Given the description of an element on the screen output the (x, y) to click on. 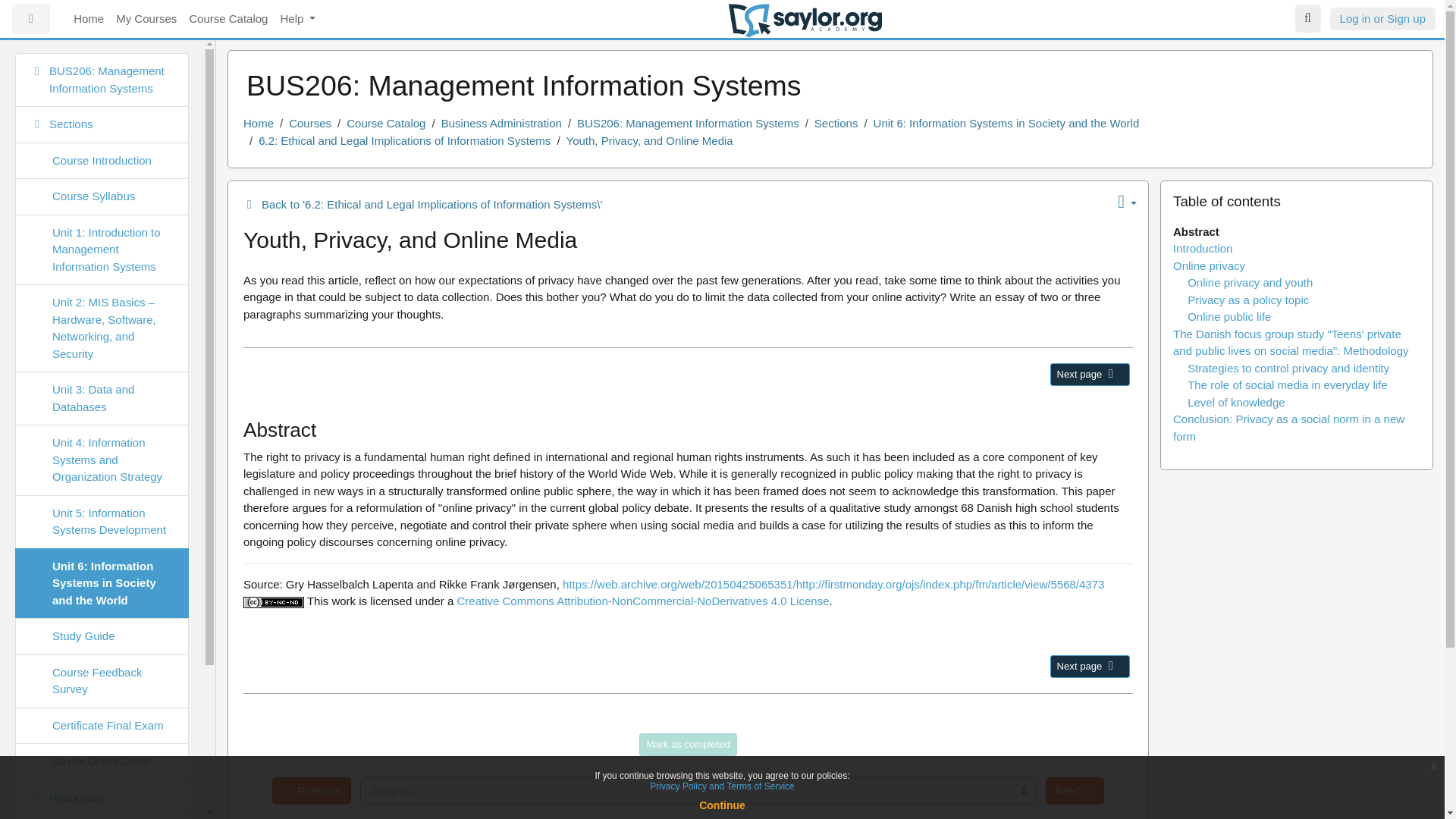
Study Guide (101, 636)
Course Syllabus (101, 196)
Next: Introduction (1089, 374)
Next: Introduction (1089, 666)
Side panel (30, 19)
Unit 1: Introduction to Management Information Systems (101, 249)
Home (88, 19)
Home (258, 123)
Course Feedback Survey (101, 680)
Saylor Academy (805, 20)
